Given the description of an element on the screen output the (x, y) to click on. 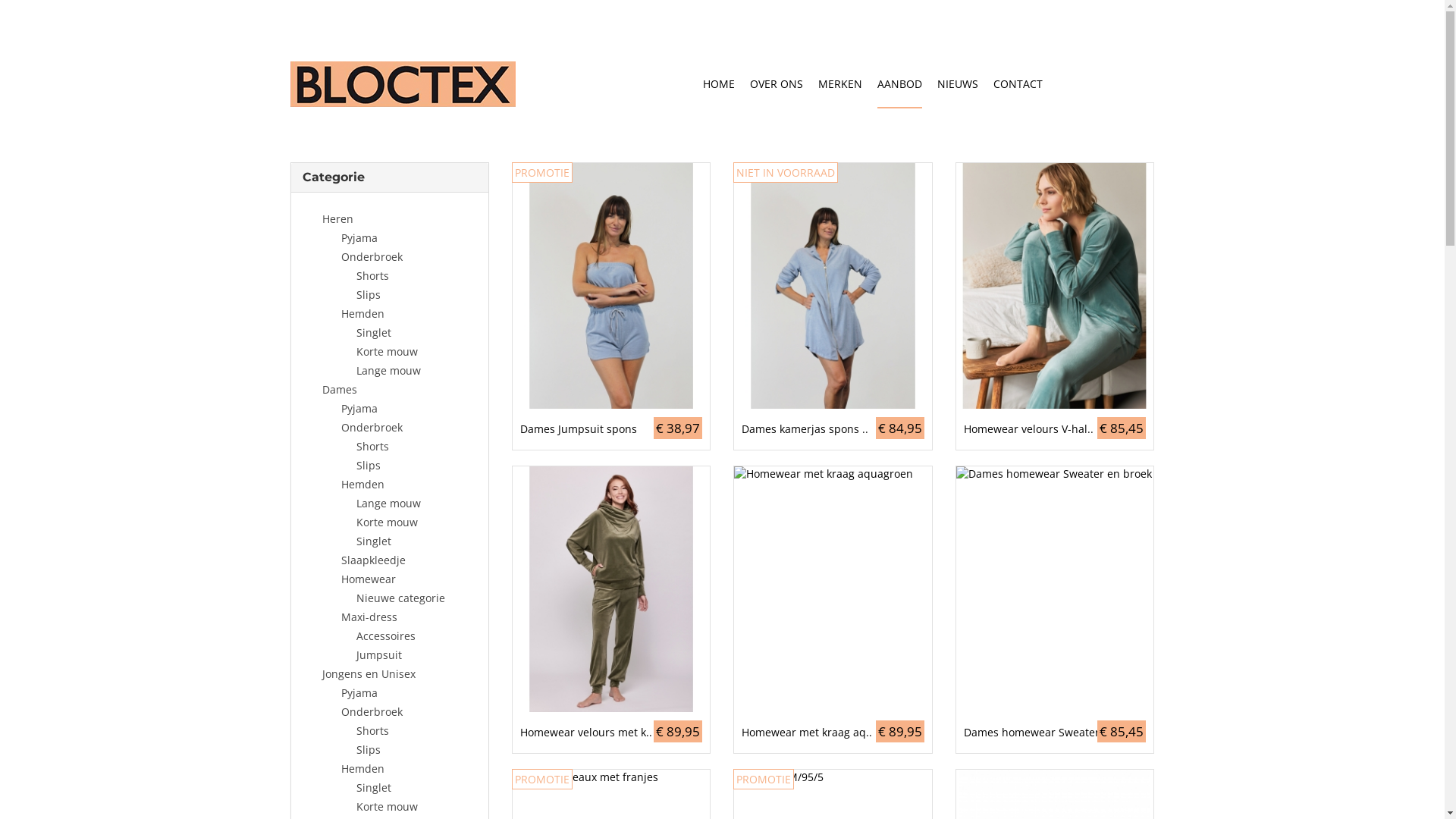
Dames kamerjas spons .. Element type: text (832, 428)
Homewear met kraag aq.. Element type: text (832, 732)
AANBOD Element type: text (898, 84)
HOME Element type: text (718, 84)
NIEUWS Element type: text (957, 84)
Dames homewear Sweater.. Element type: text (1054, 732)
Homewear velours met k.. Element type: text (611, 732)
Categorie Element type: text (332, 176)
Dames Jumpsuit spons Element type: text (611, 428)
ICON Element type: text (1122, 83)
Homewear velours V-hal.. Element type: text (1054, 428)
OVER ONS Element type: text (775, 84)
CONTACT Element type: text (1017, 84)
MERKEN Element type: text (839, 84)
